Given the description of an element on the screen output the (x, y) to click on. 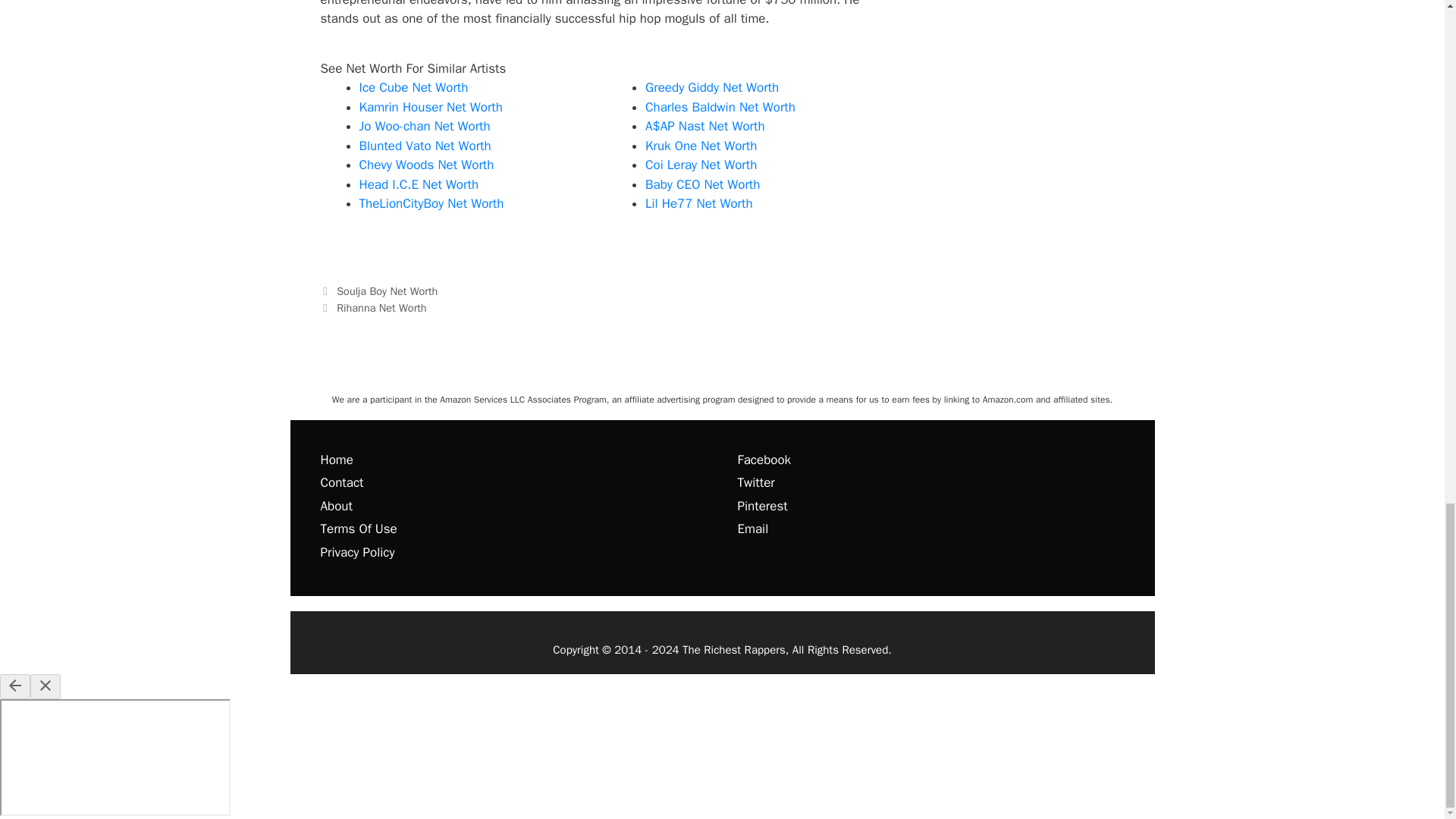
Kamrin Houser Net Worth (430, 107)
Coi Leray Net Worth (701, 164)
Charles Baldwin Net Worth (719, 107)
Ice Cube Net Worth (413, 87)
Rihanna Net Worth (381, 307)
Jo Woo-chan Net Worth (424, 125)
Head I.C.E Net Worth (419, 184)
Soulja Boy Net Worth (387, 291)
Chevy Woods Net Worth (427, 164)
Kruk One Net Worth (701, 145)
Lil He77 Net Worth (698, 203)
Baby CEO Net Worth (702, 184)
Blunted Vato Net Worth (425, 145)
TheLionCityBoy Net Worth (431, 203)
Greedy Giddy Net Worth (711, 87)
